Given the description of an element on the screen output the (x, y) to click on. 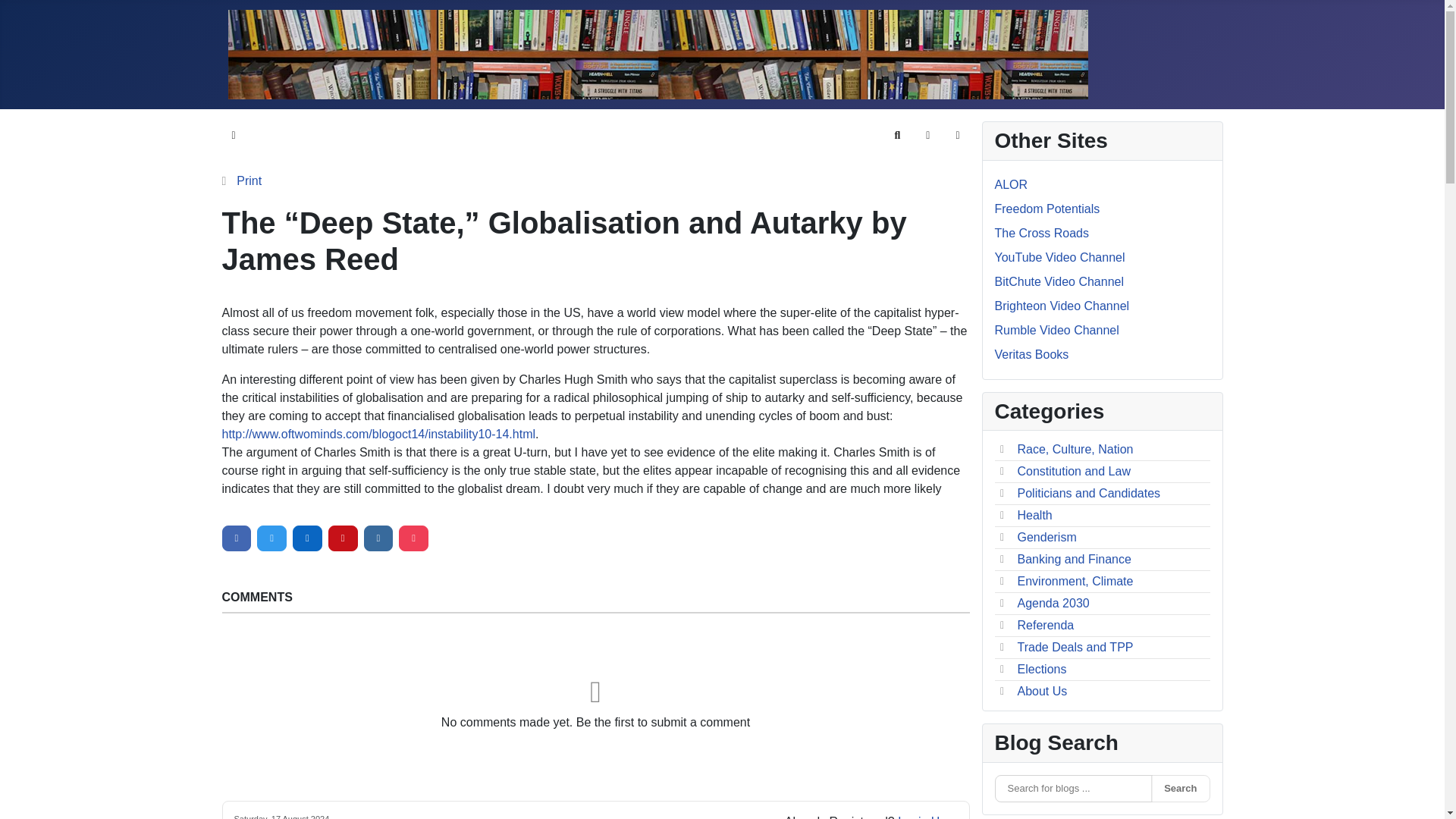
Freedom Potentials (1047, 208)
Rumble Video Channel (1056, 329)
Print (248, 180)
The Cross Roads (1041, 232)
Constitution and Law (1074, 471)
Health (1034, 514)
Search (896, 135)
YouTube Video Channel (1059, 256)
Politicians and Candidates (1088, 492)
